Given the description of an element on the screen output the (x, y) to click on. 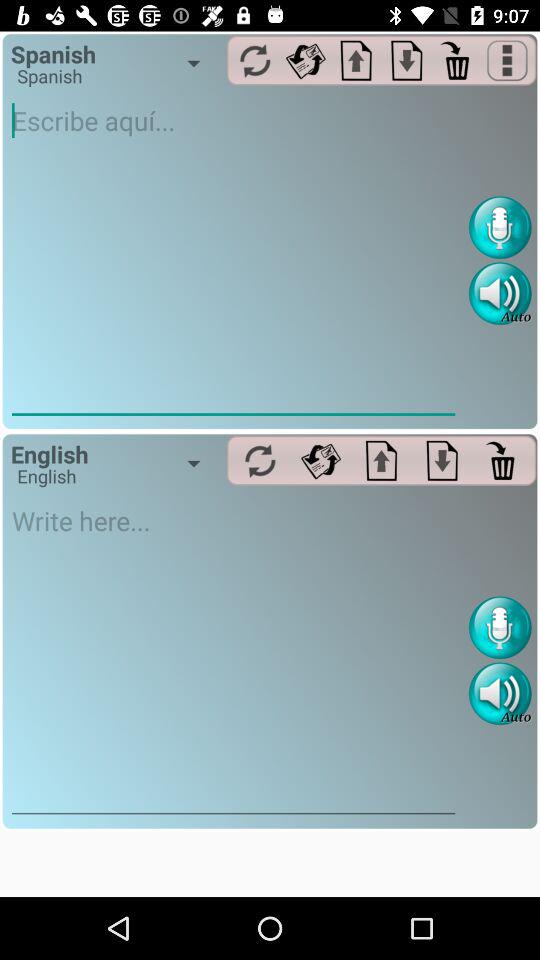
voice recognizer recorder (499, 627)
